Given the description of an element on the screen output the (x, y) to click on. 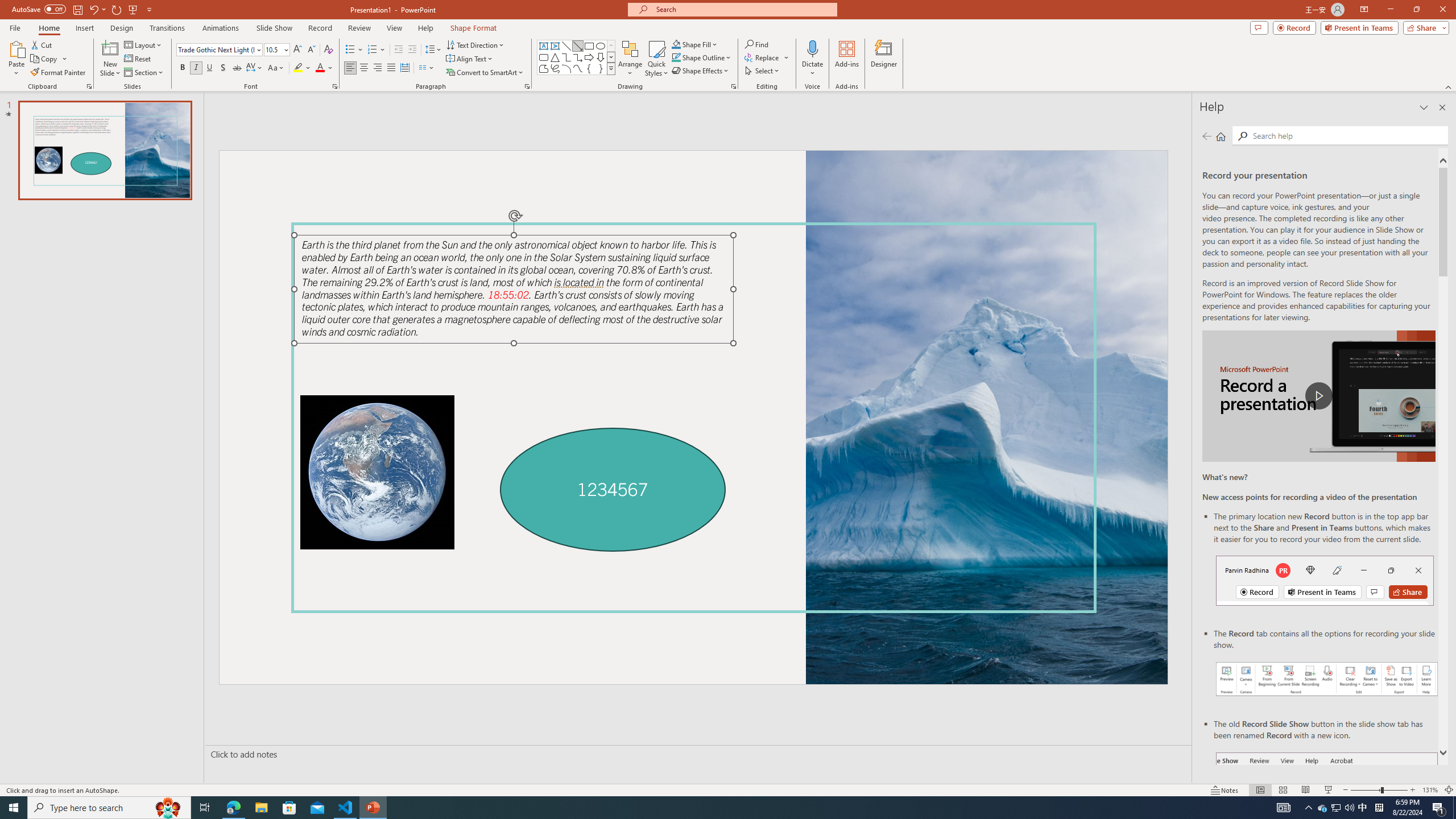
Record button in top bar (1324, 580)
Shape Effects (700, 69)
